Given the description of an element on the screen output the (x, y) to click on. 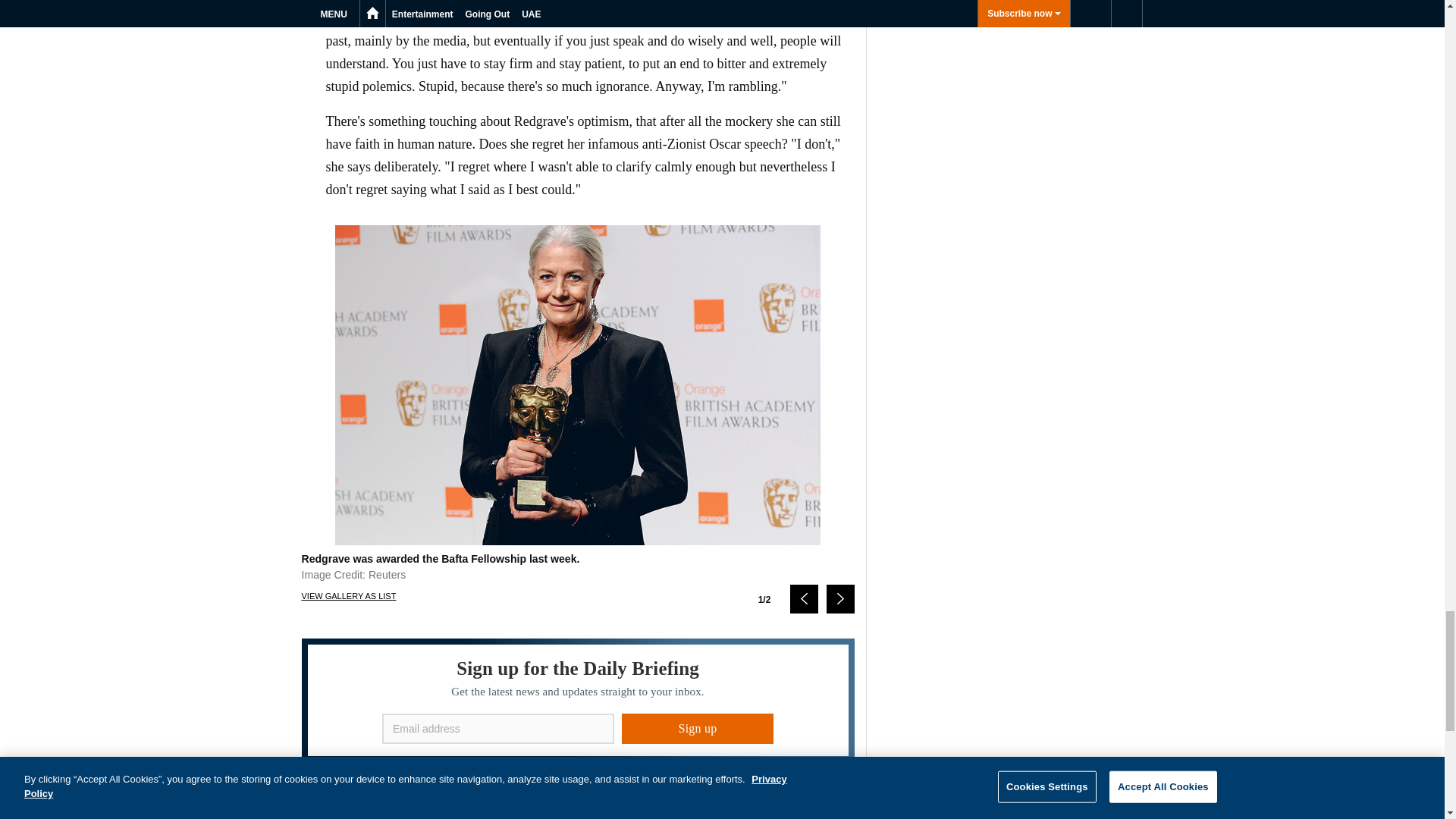
Sign up for the Daily Briefing (577, 700)
